Given the description of an element on the screen output the (x, y) to click on. 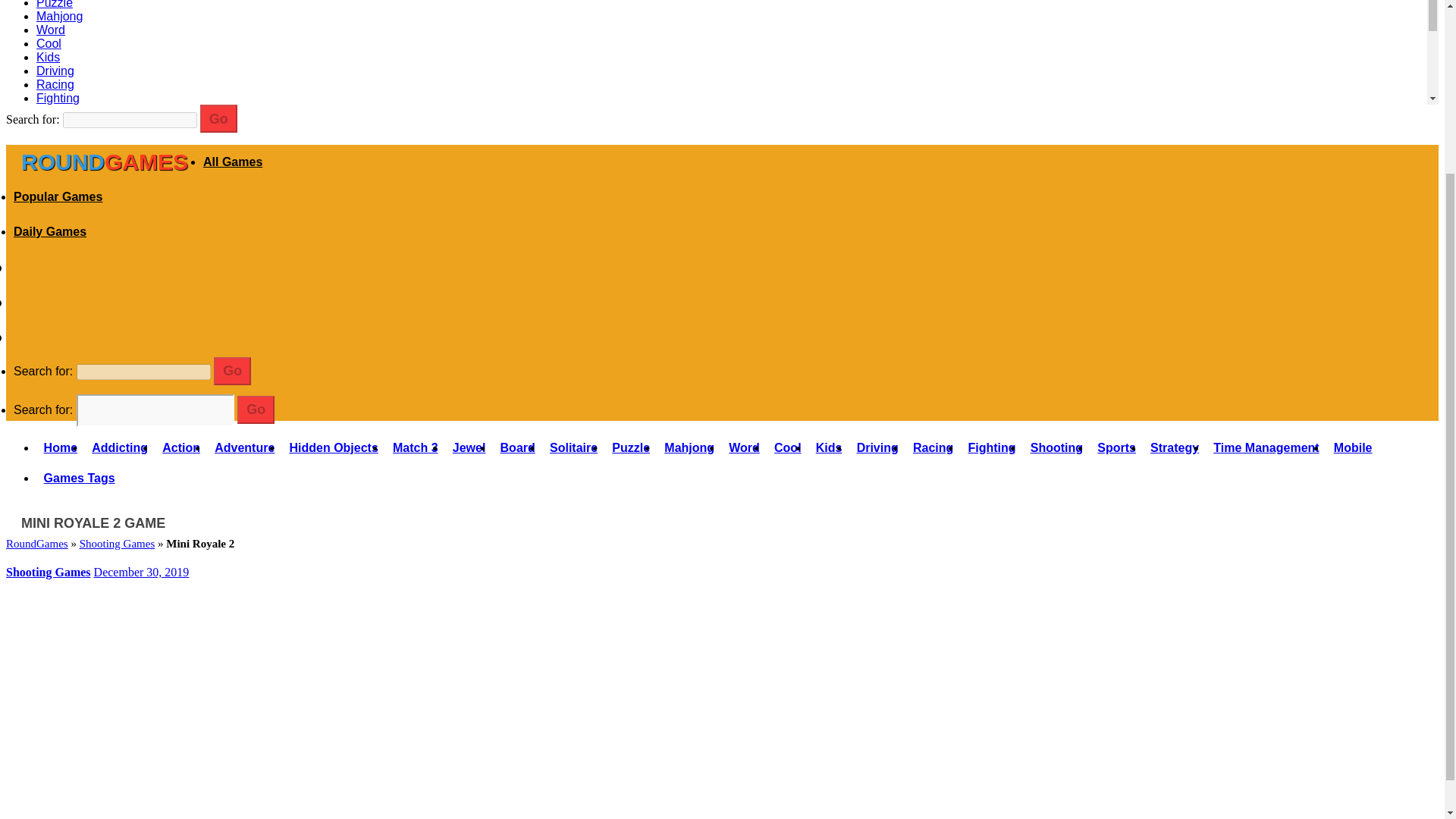
Shooting (60, 111)
Racing (55, 83)
Follow us on Twitter (26, 301)
Follow us on Facebook (26, 266)
Popular Games (57, 196)
Puzzle (54, 4)
Word (50, 29)
Games Tags (70, 179)
Mobile (53, 165)
Play Free Online Games No Downloads at RoundGames (104, 161)
